Given the description of an element on the screen output the (x, y) to click on. 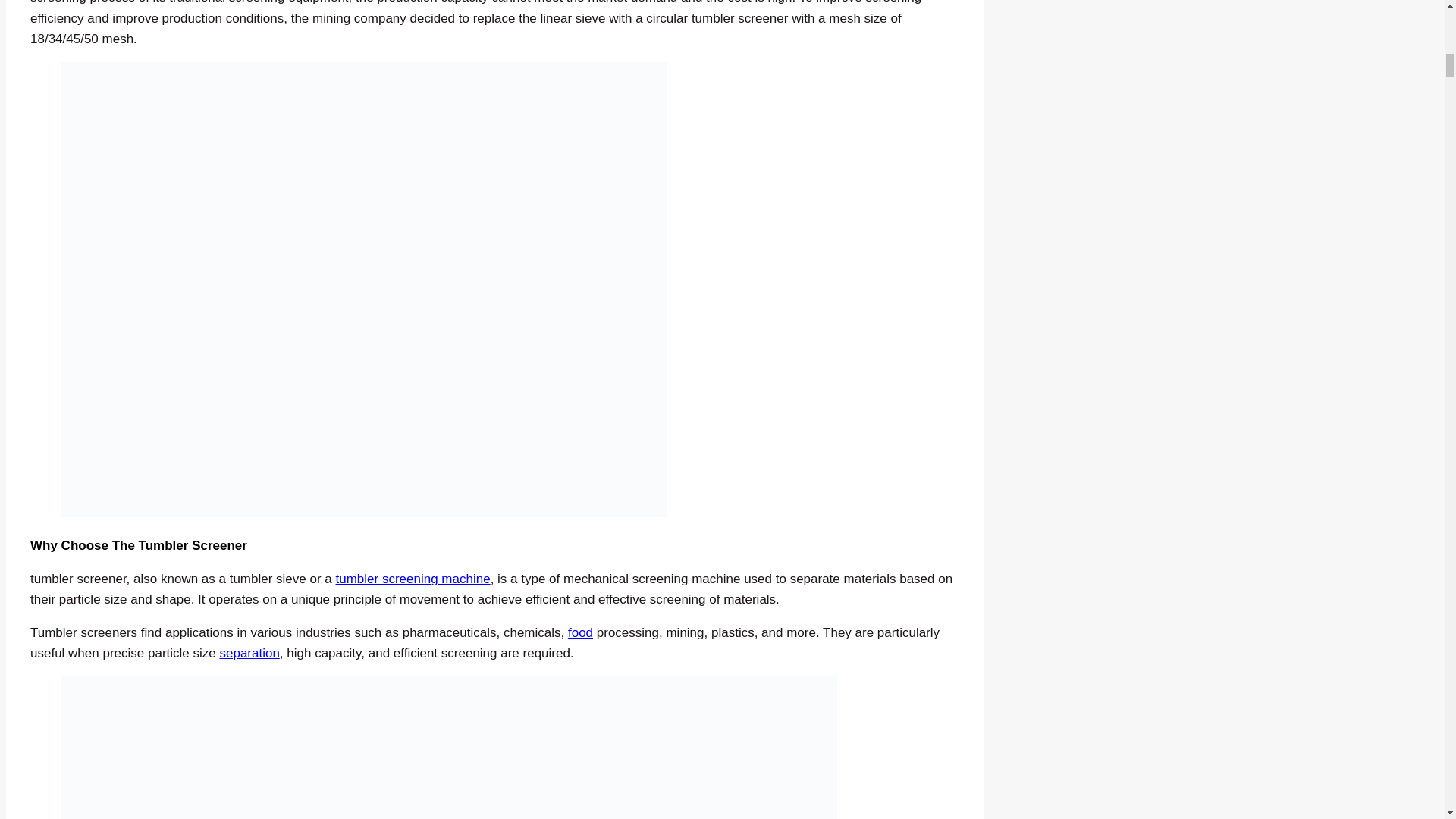
food (579, 632)
separation (249, 653)
tumbler screening machine (413, 578)
